Given the description of an element on the screen output the (x, y) to click on. 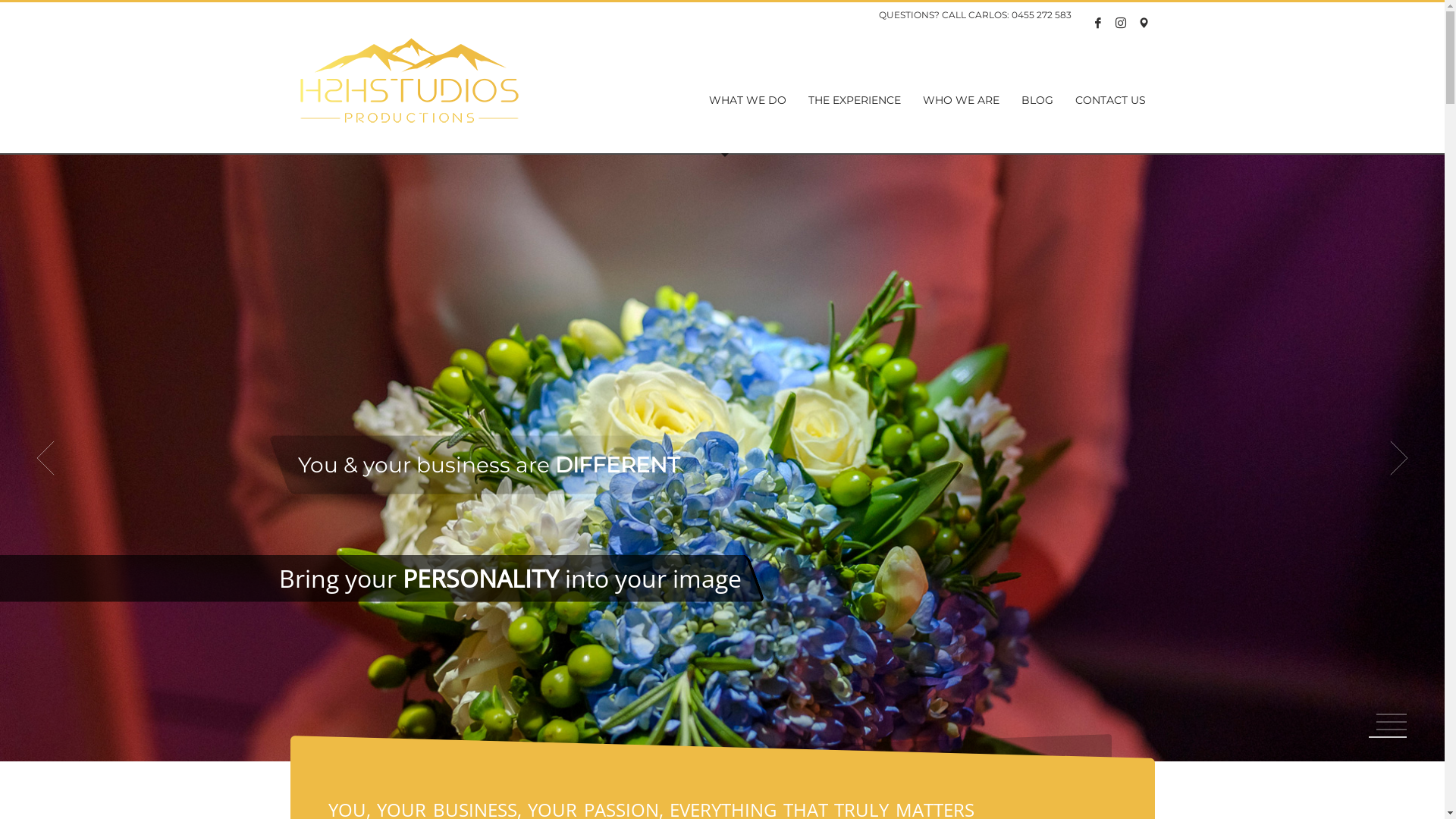
WHO WE ARE Element type: text (960, 99)
1 Element type: text (1391, 713)
0455 272 583 Element type: text (1041, 14)
VISIT US: UNIT 2, 34 TECHNOLOGY DRIVE, WARANA QLD 4575 Element type: hover (1142, 22)
BLOG Element type: text (1037, 99)
WHAT WE DO Element type: text (747, 99)
2 Element type: text (1390, 721)
Facebook Element type: hover (1096, 22)
THE EXPERIENCE Element type: text (854, 99)
3 Element type: text (1387, 729)
Slaying your Social Media stress with amazing content Element type: hover (408, 79)
4 Element type: text (1391, 736)
CONTACT US Element type: text (1110, 99)
Instagram Element type: hover (1119, 22)
